Given the description of an element on the screen output the (x, y) to click on. 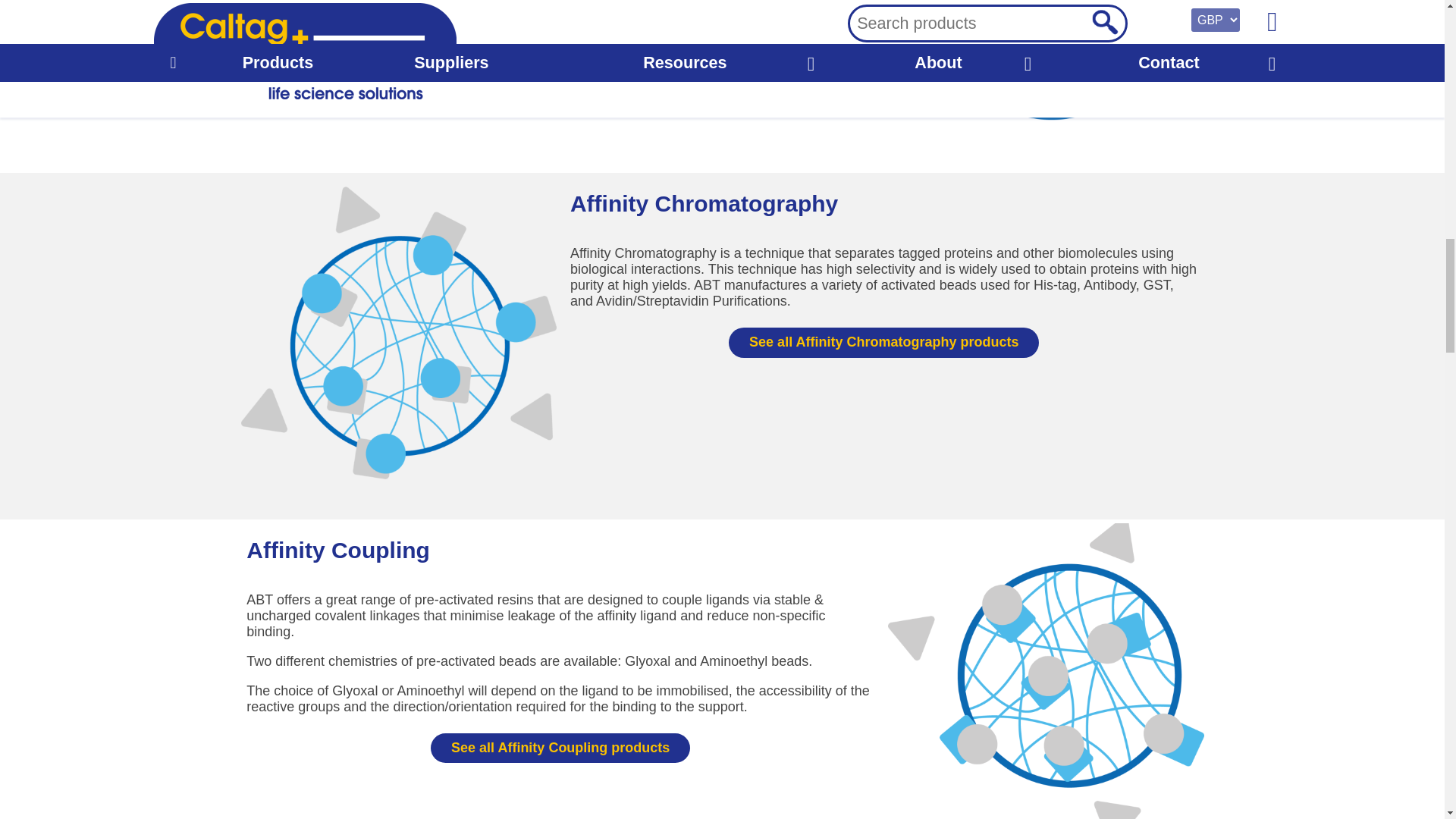
See all Ion Exchange Chromatography products (560, 57)
Affinity Coupling (1046, 671)
See all Affinity Coupling products (560, 748)
Affinity Chromatography (399, 334)
See all Affinity Chromatography products (884, 342)
Ion Exchange Chromatography (1046, 73)
